Given the description of an element on the screen output the (x, y) to click on. 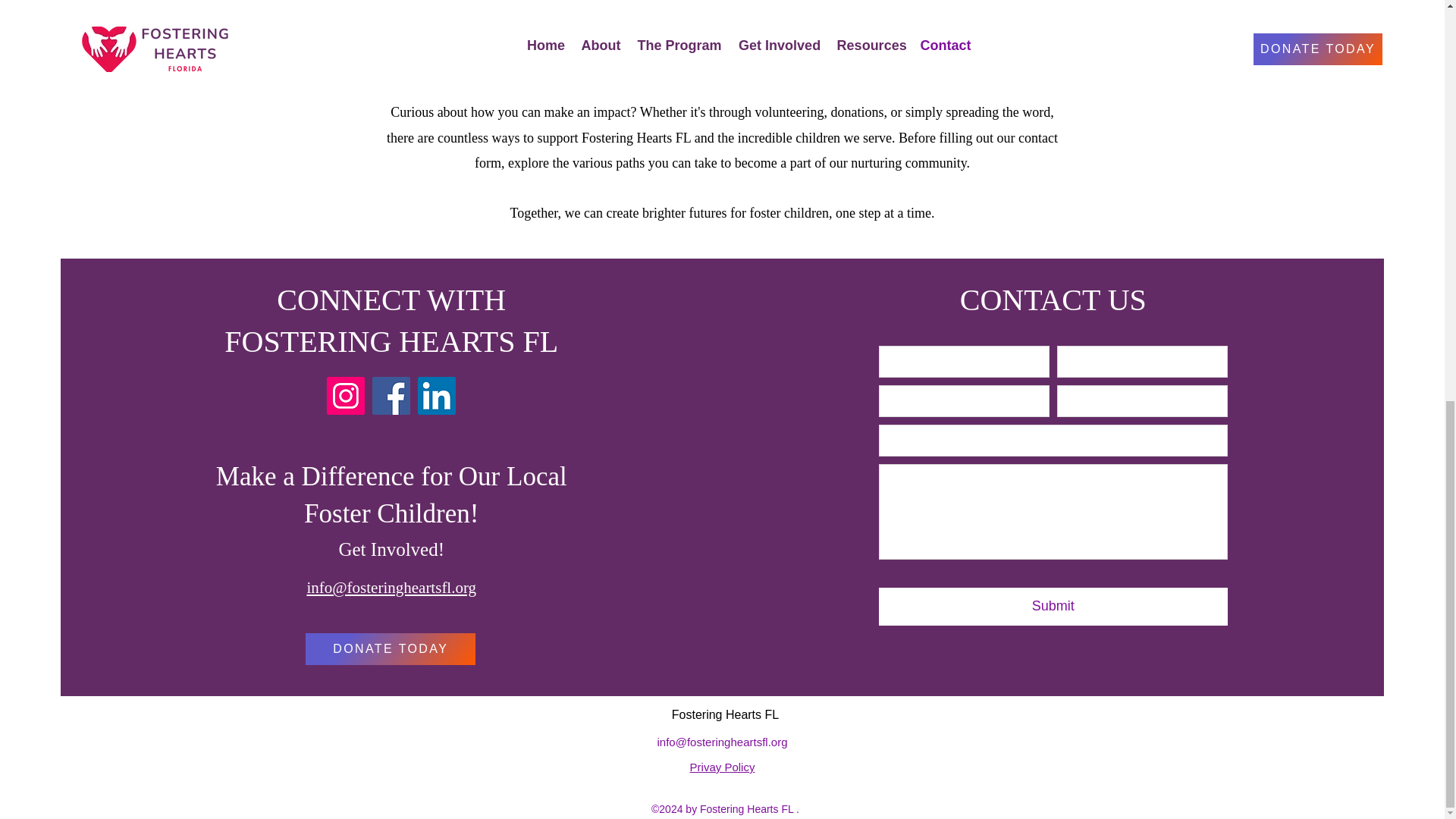
Submit (1053, 606)
Privay Policy (722, 766)
DONATE TODAY (390, 649)
